Given the description of an element on the screen output the (x, y) to click on. 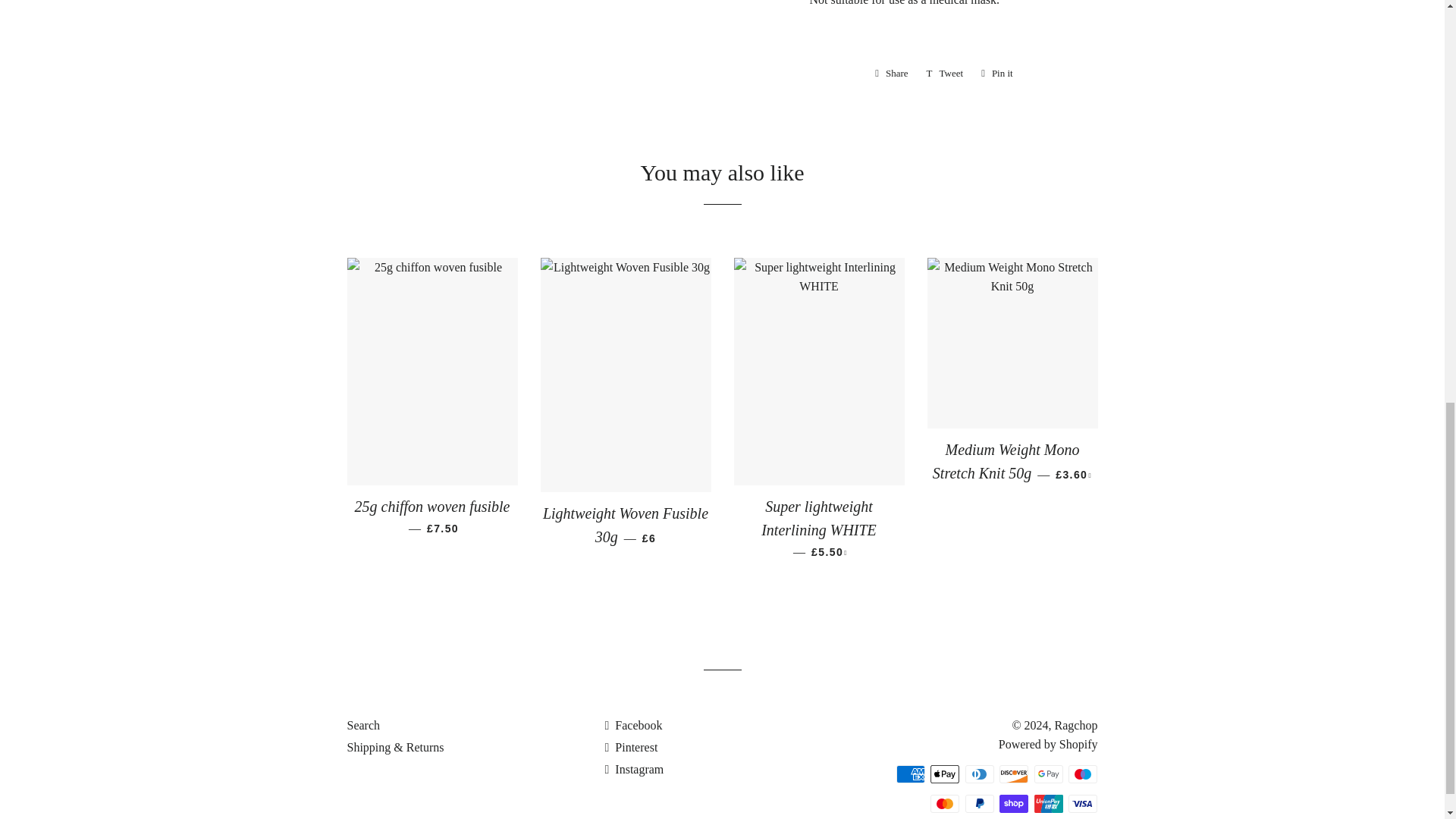
American Express (910, 773)
Ragchop on Facebook (633, 725)
Share on Facebook (891, 73)
Union Pay (1047, 803)
Tweet on Twitter (944, 73)
Ragchop on Pinterest (631, 747)
Discover (1012, 773)
Visa (1082, 803)
Pin on Pinterest (997, 73)
Maestro (1082, 773)
Ragchop on Instagram (633, 768)
Mastercard (944, 803)
Diners Club (979, 773)
Apple Pay (944, 773)
Google Pay (1047, 773)
